Given the description of an element on the screen output the (x, y) to click on. 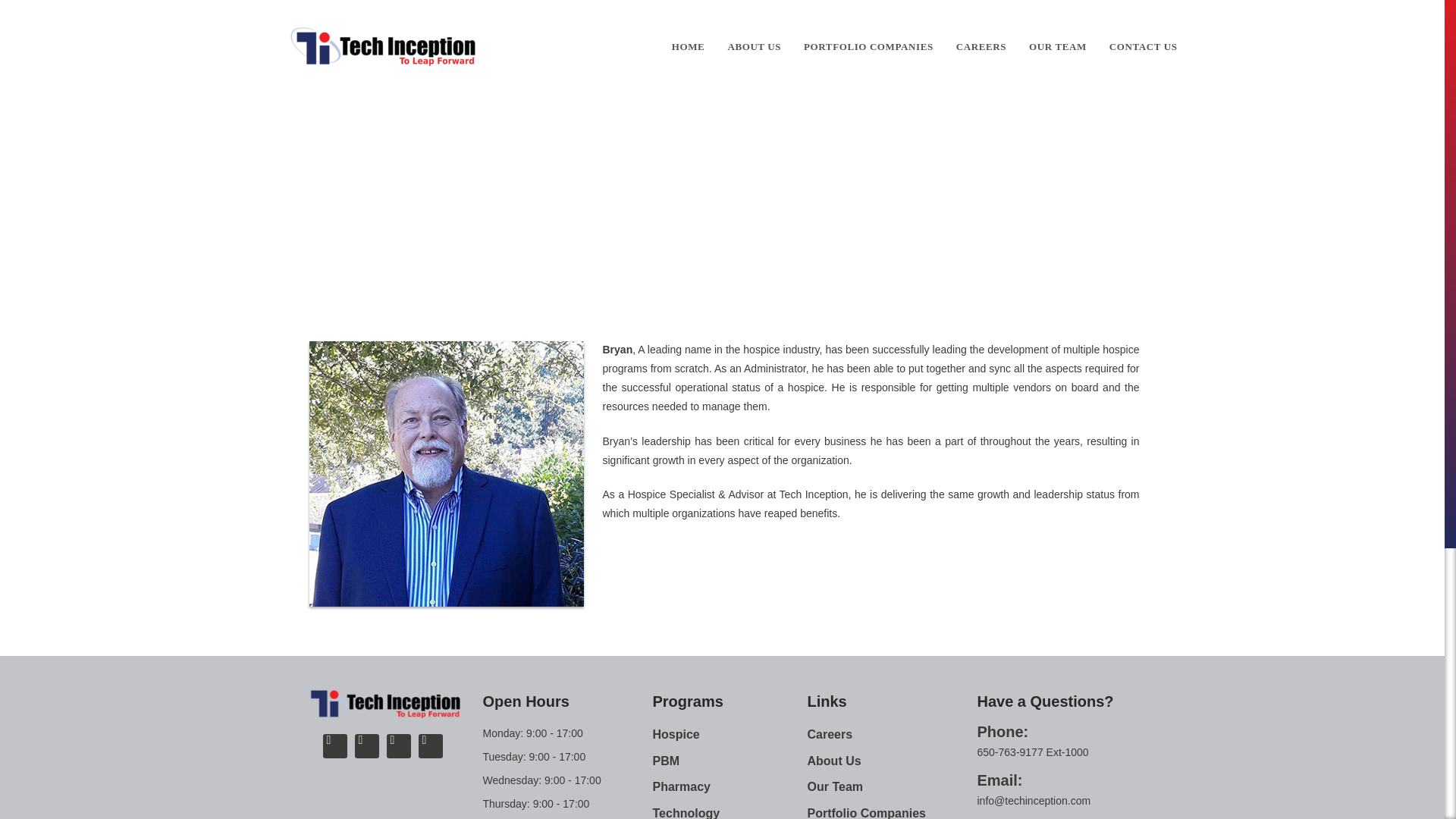
Technology (729, 811)
PBM (729, 762)
CONTACT US (1143, 46)
Portfolio Companies (891, 811)
CAREERS (980, 46)
Our Team (891, 787)
PORTFOLIO COMPANIES (868, 46)
ABOUT US (754, 46)
About Us (891, 762)
Our Team (652, 181)
Pharmacy (729, 787)
Careers (891, 734)
OUR TEAM (1057, 46)
HOME (688, 46)
Hospice (729, 734)
